Given the description of an element on the screen output the (x, y) to click on. 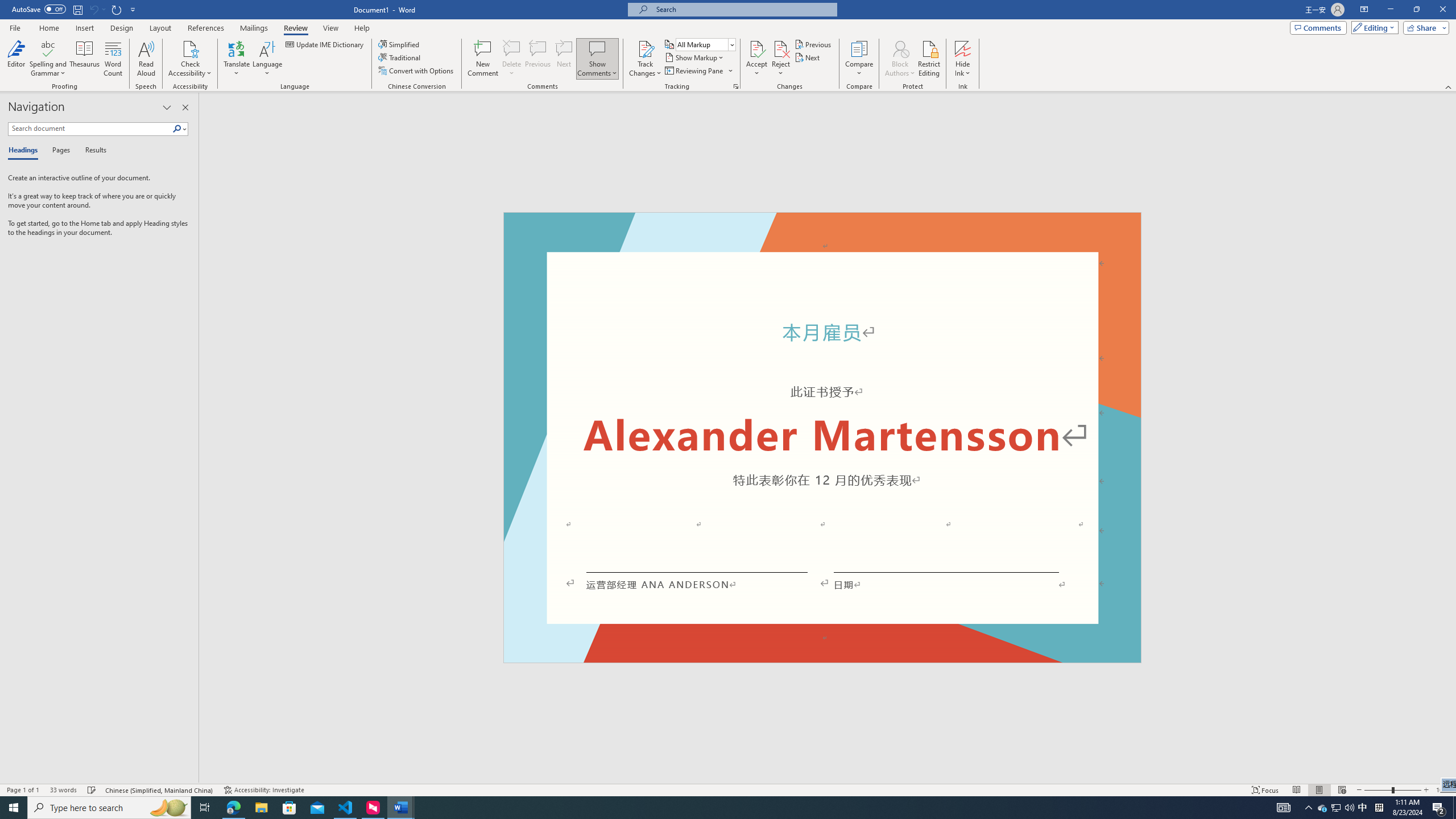
Word Count (113, 58)
Compare (859, 58)
Block Authors (900, 48)
Spelling and Grammar Check Checking (91, 790)
Next (808, 56)
